Given the description of an element on the screen output the (x, y) to click on. 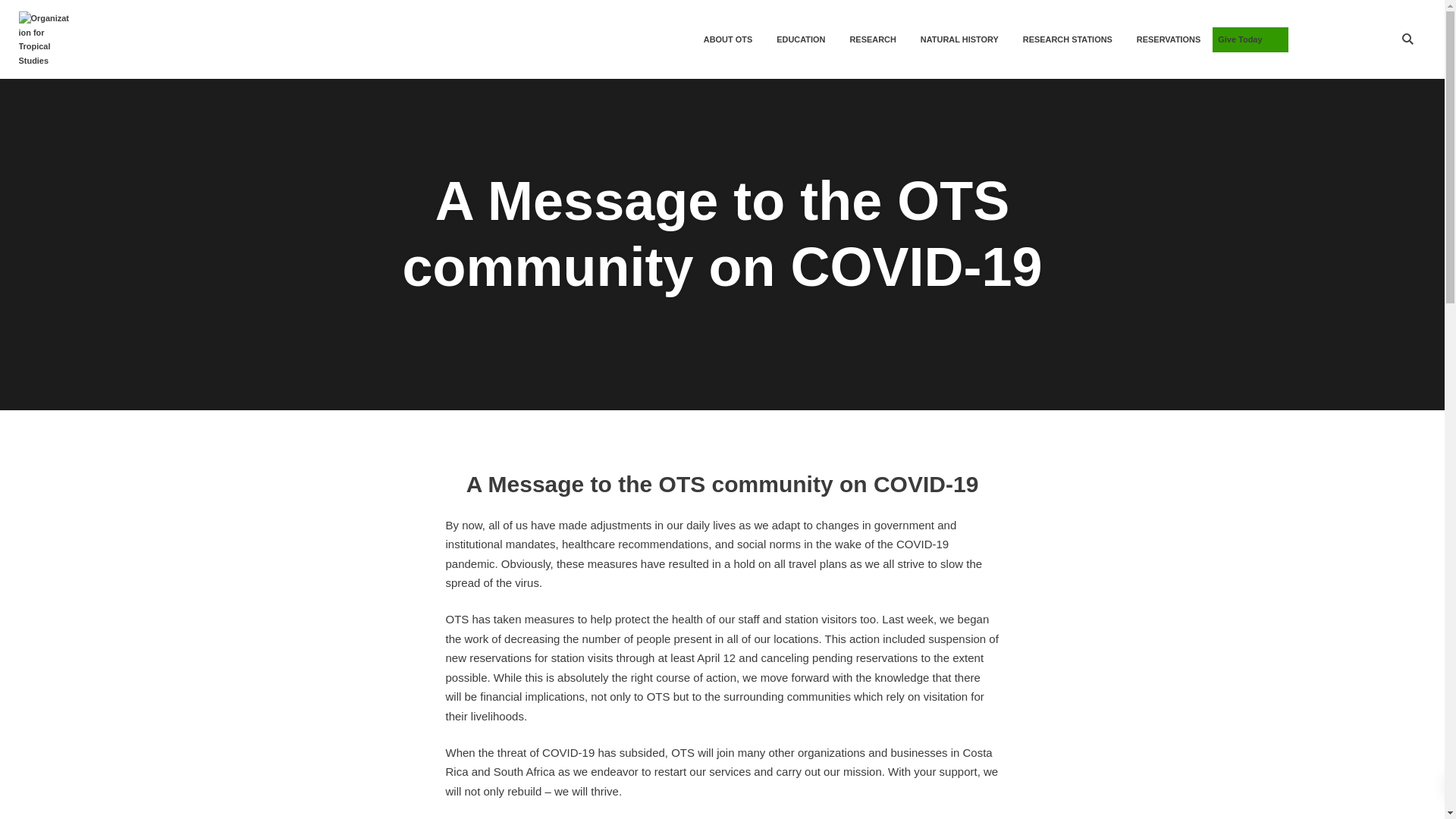
RESEARCH (872, 39)
ABOUT OTS (727, 39)
EDUCATION (800, 39)
NATURAL HISTORY (959, 39)
